Given the description of an element on the screen output the (x, y) to click on. 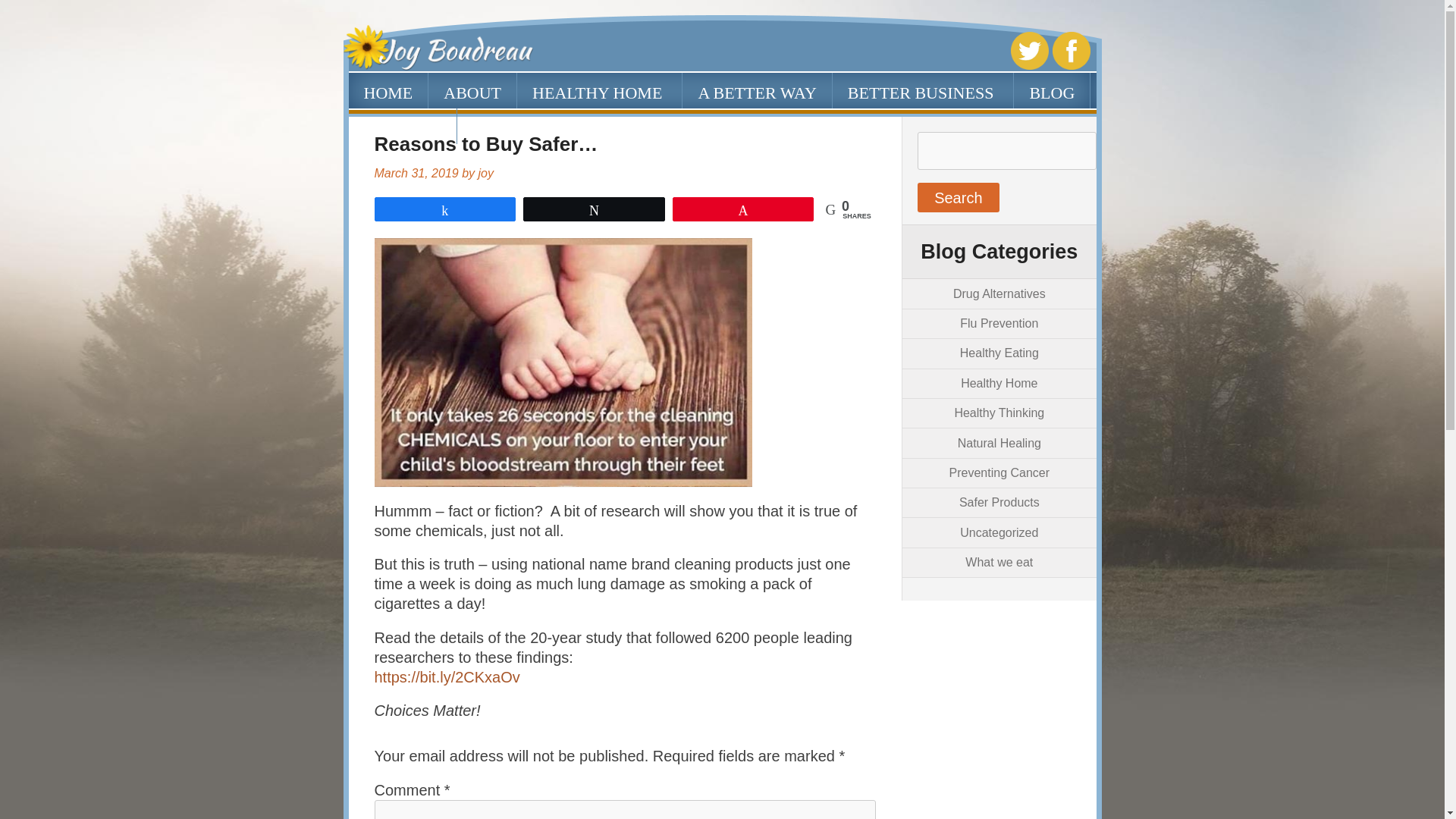
What we eat (998, 562)
Healthy Home (998, 382)
A BETTER WAY (756, 90)
Safer Products (999, 502)
Search (957, 197)
Preventing Cancer (999, 472)
Natural Healing (999, 442)
Healthy Thinking (998, 412)
ABOUT (472, 90)
Healthy Eating (999, 352)
